Given the description of an element on the screen output the (x, y) to click on. 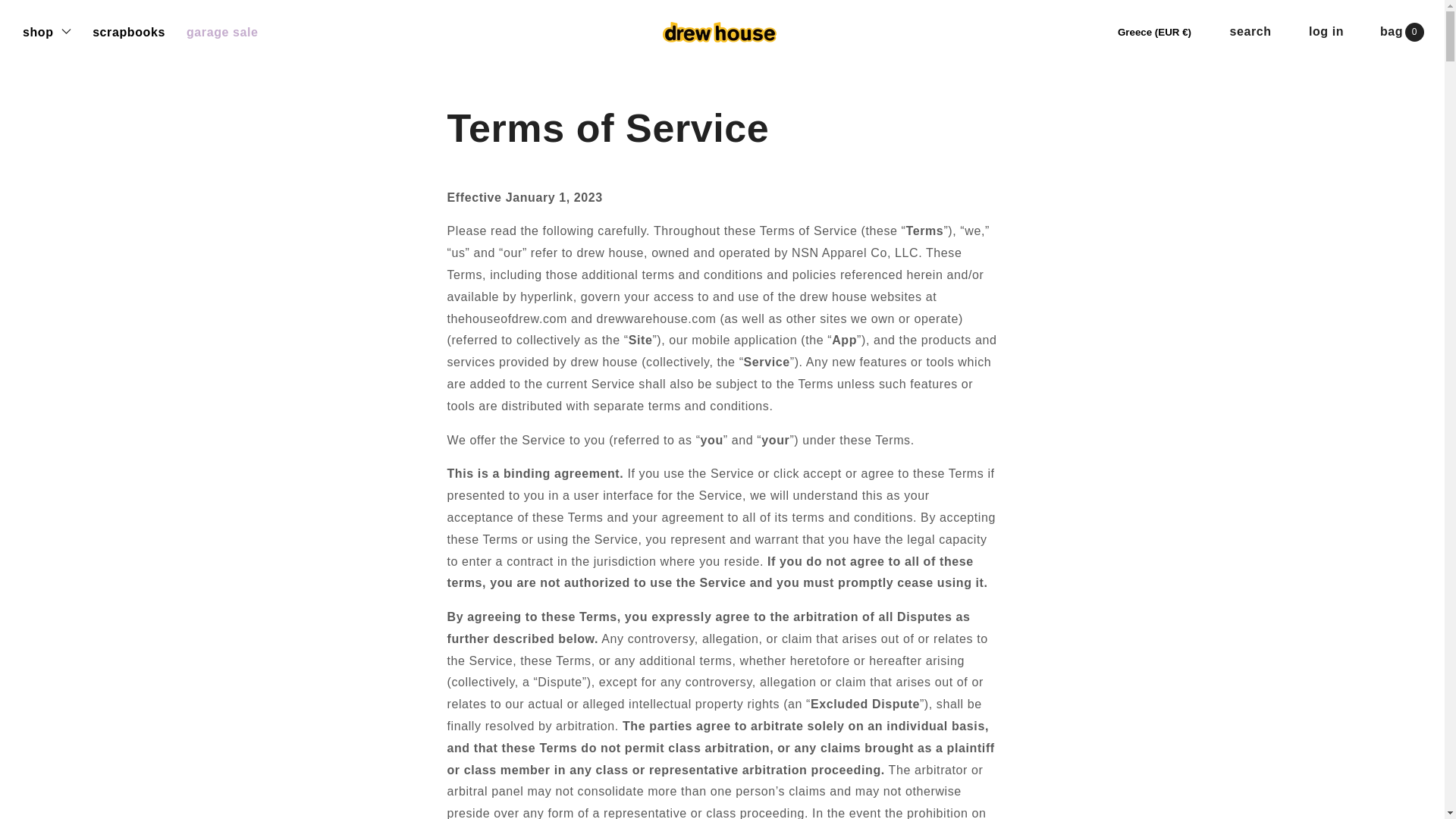
garage sale (232, 32)
log in (1325, 32)
scrapbooks (139, 32)
skip to content (45, 18)
